Given the description of an element on the screen output the (x, y) to click on. 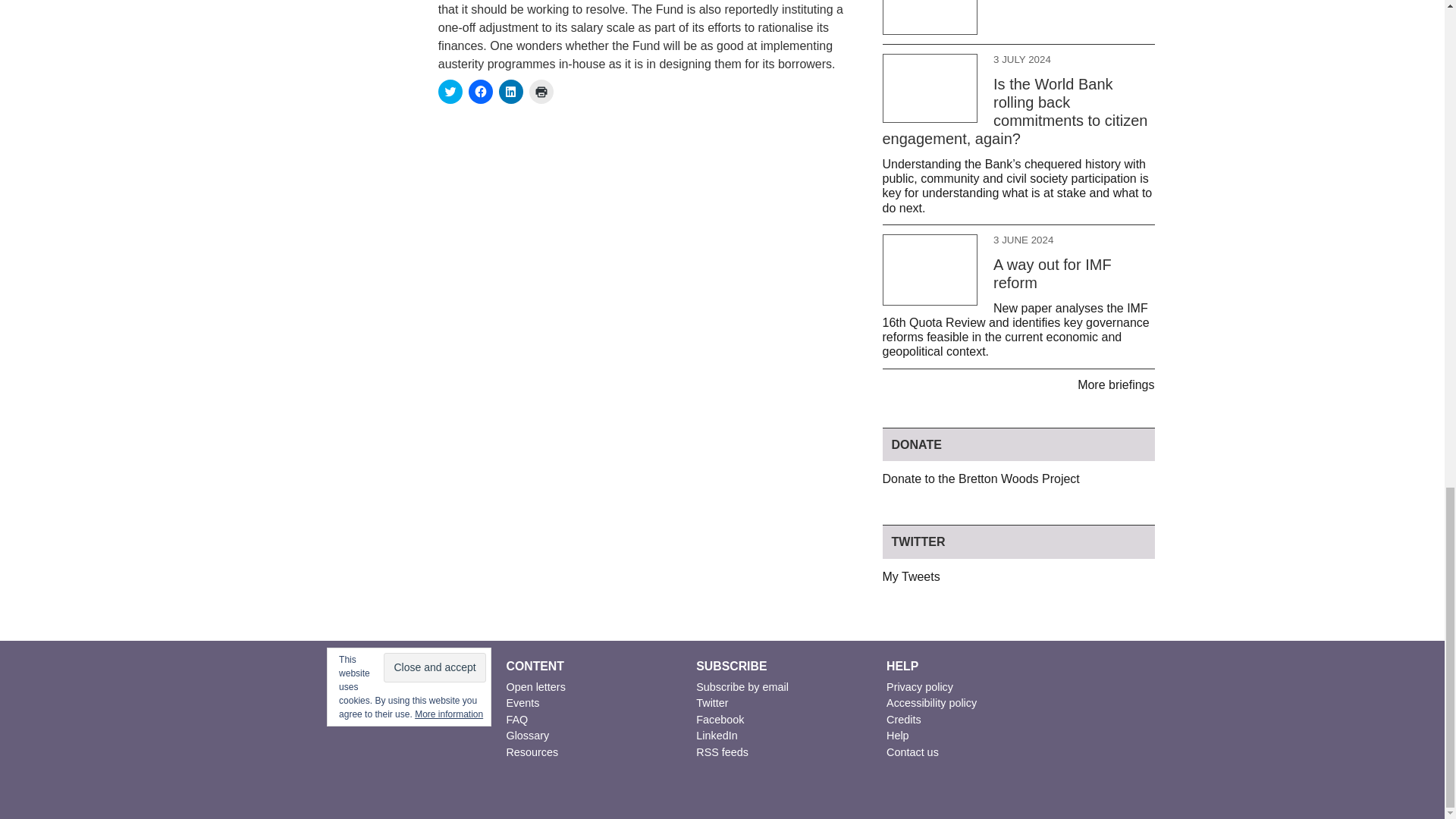
Close and accept (434, 667)
Click to share on Facebook (480, 91)
Click to print (541, 91)
Click to share on Twitter (450, 91)
Click to share on LinkedIn (510, 91)
